Given the description of an element on the screen output the (x, y) to click on. 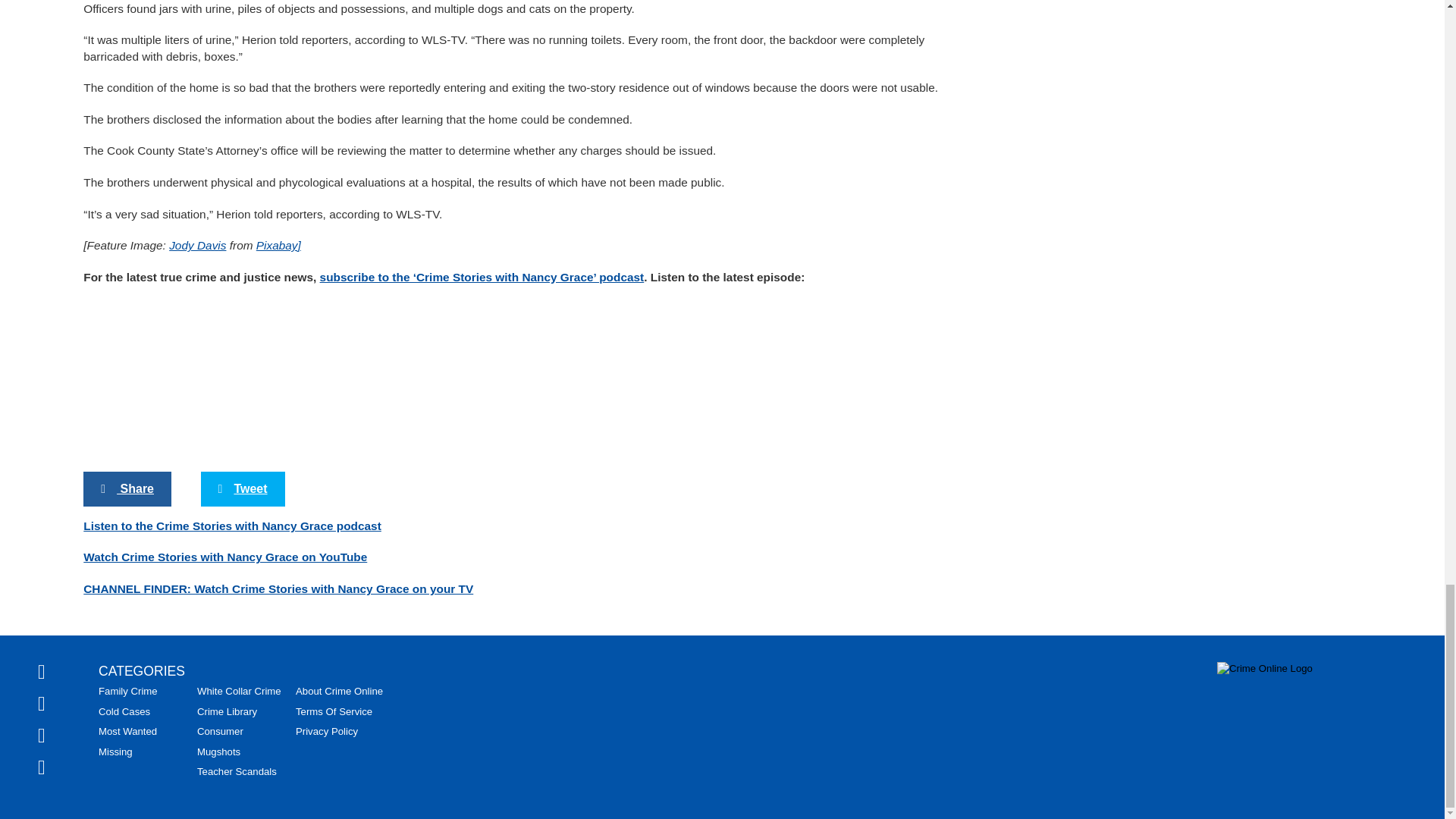
10 Melania Facts That Will Stun You (242, 399)
Watch Crime Stories with Nancy Grace on YouTube (224, 207)
Listen to the Crime Stories with Nancy Grace podcast (231, 176)
How Long Should I Keep My Car? (515, 734)
20 Extremely Special Beaches Around the World (242, 583)
Share (126, 140)
10 Biggest Sea Dinosaurs That Ever Existed on Earth (515, 407)
The 50 Most Romantic Hotels in the World 2022 (791, 407)
The Close Relationship Between Stress and Sleep (791, 740)
